Given the description of an element on the screen output the (x, y) to click on. 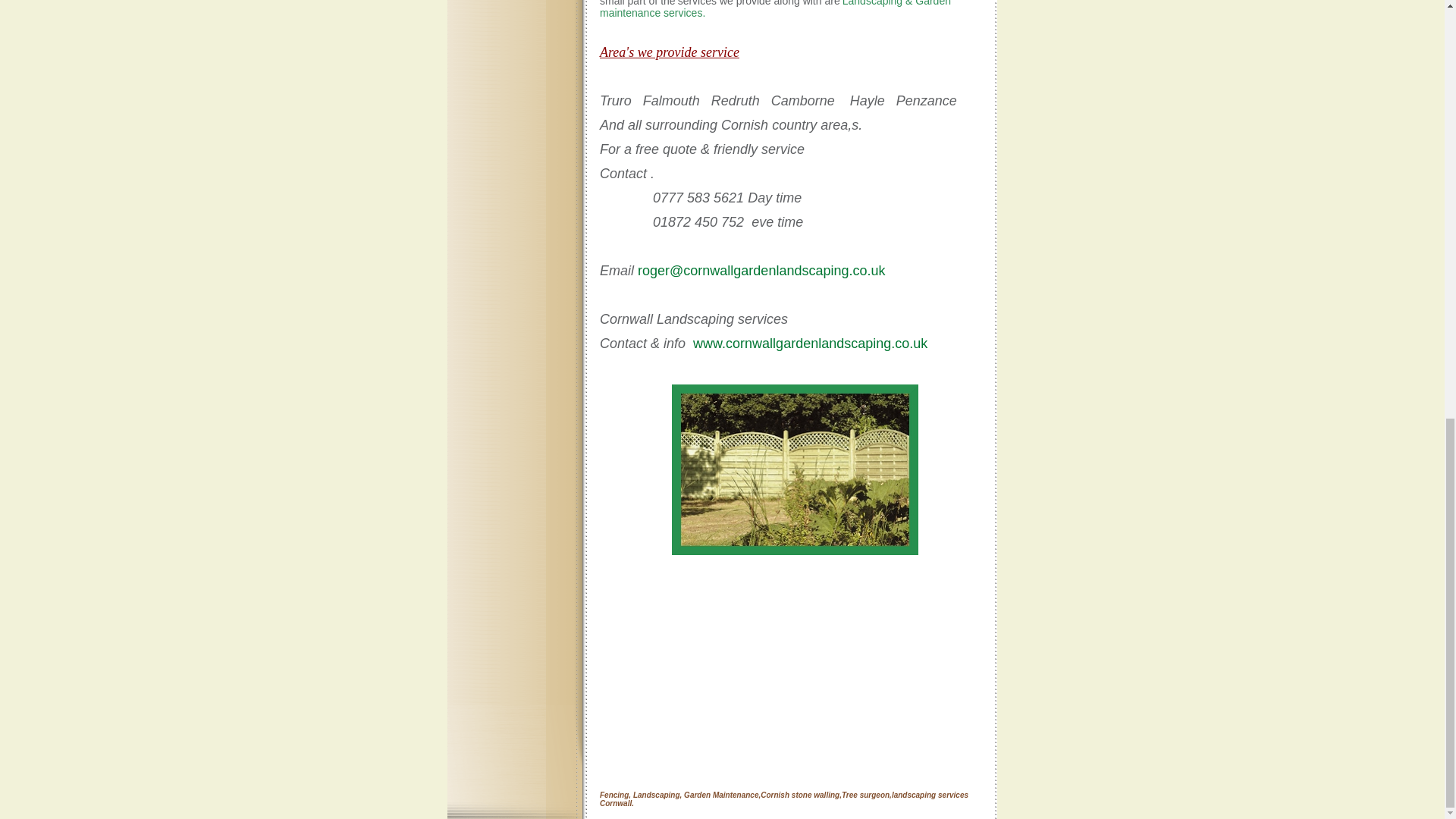
www.cornwallgardenlandscaping.co.uk (810, 343)
